Given the description of an element on the screen output the (x, y) to click on. 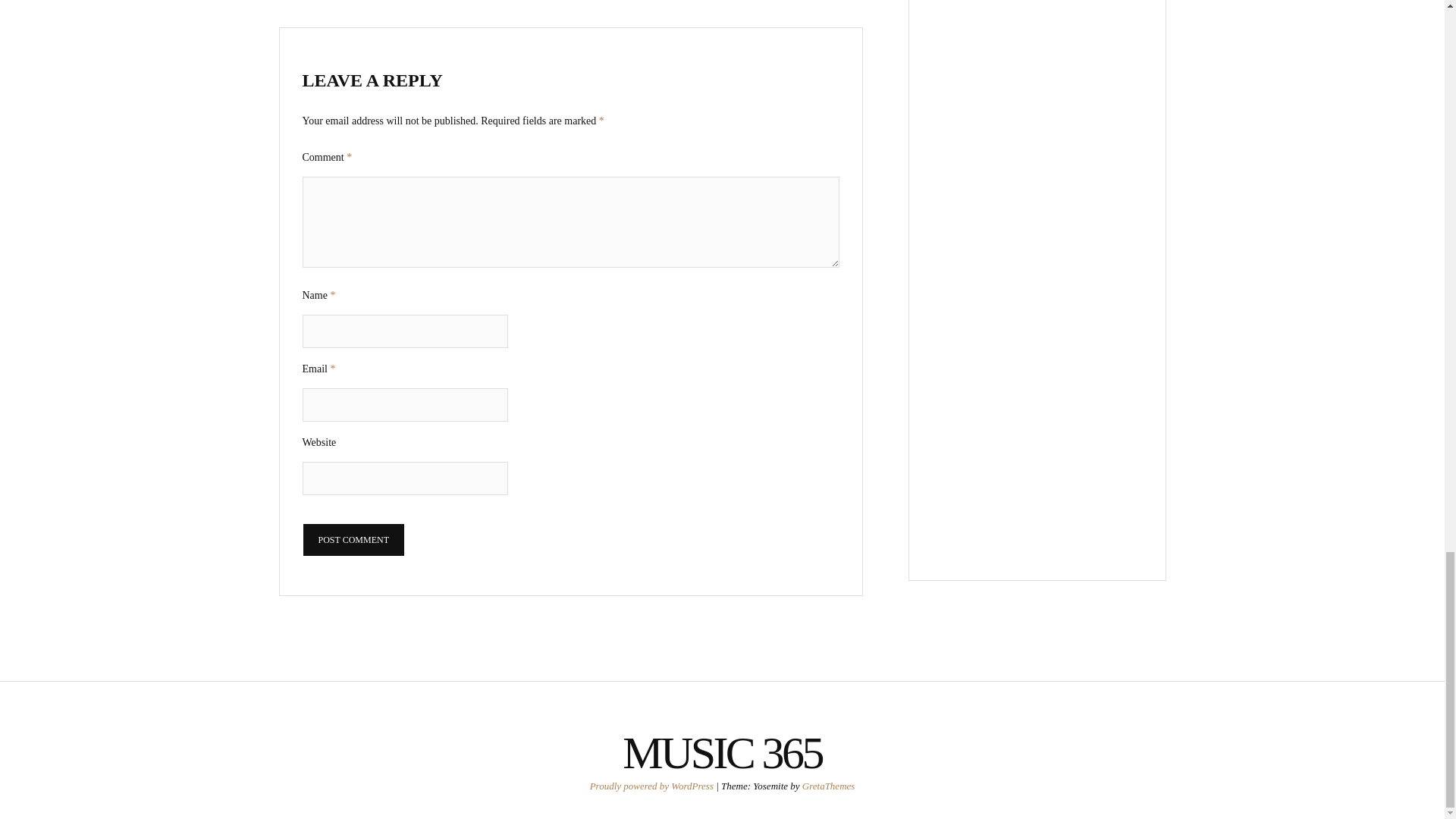
Post Comment (352, 539)
Post Comment (352, 539)
Proudly powered by WordPress (652, 785)
GretaThemes (829, 785)
MUSIC 365 (722, 753)
